Given the description of an element on the screen output the (x, y) to click on. 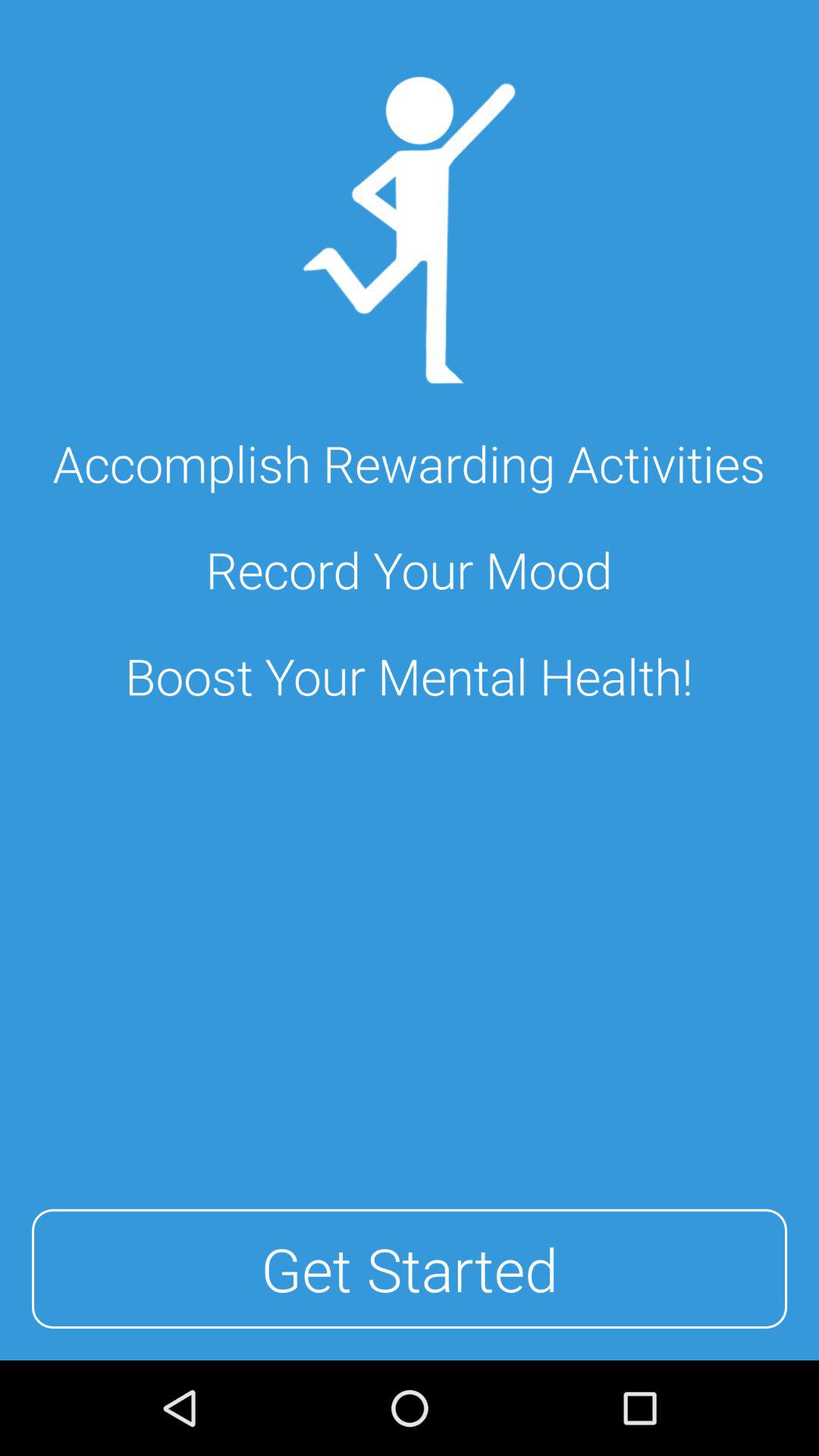
turn off button at the bottom (409, 1268)
